Given the description of an element on the screen output the (x, y) to click on. 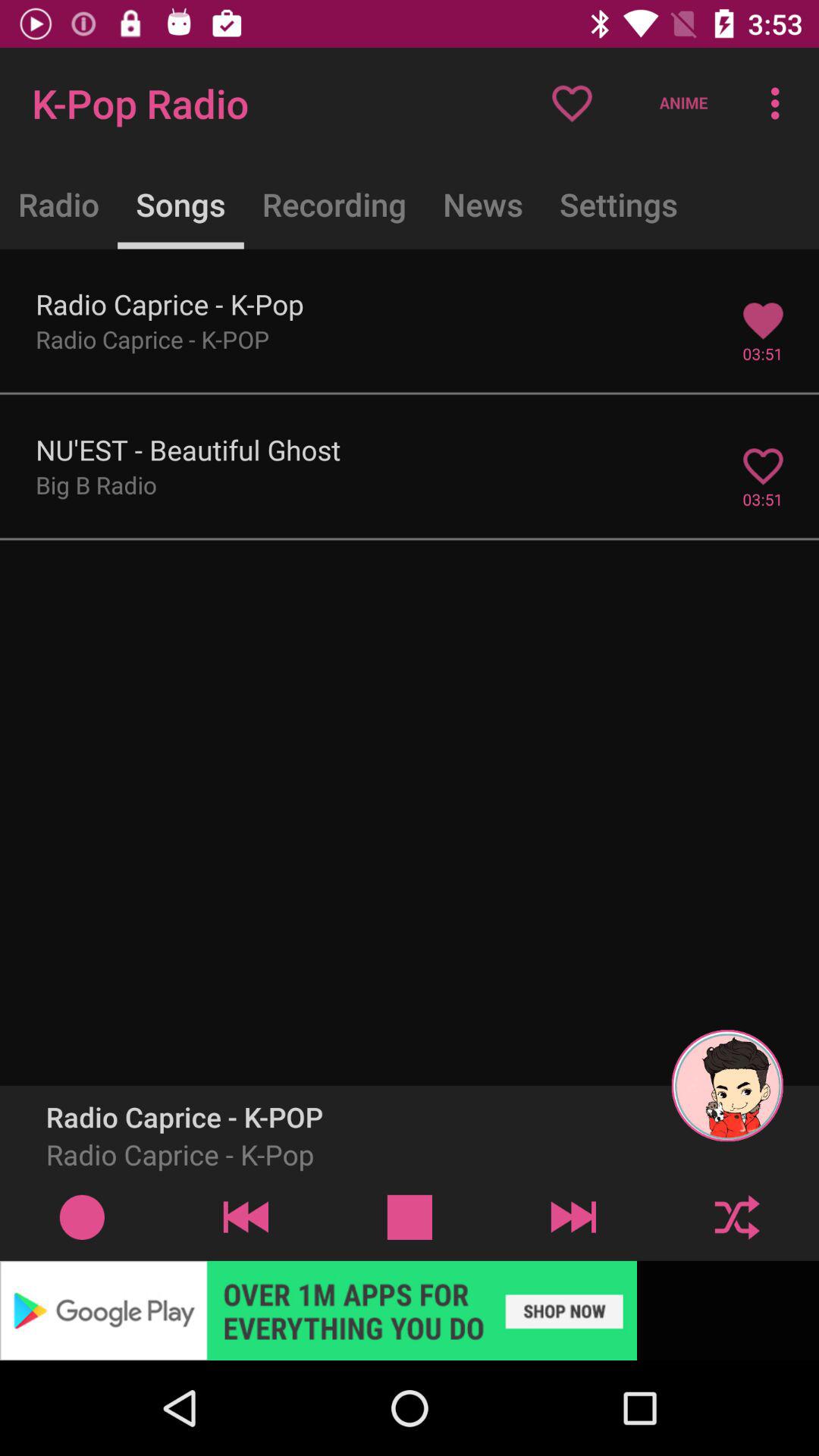
rewind to beginning (245, 1216)
